Given the description of an element on the screen output the (x, y) to click on. 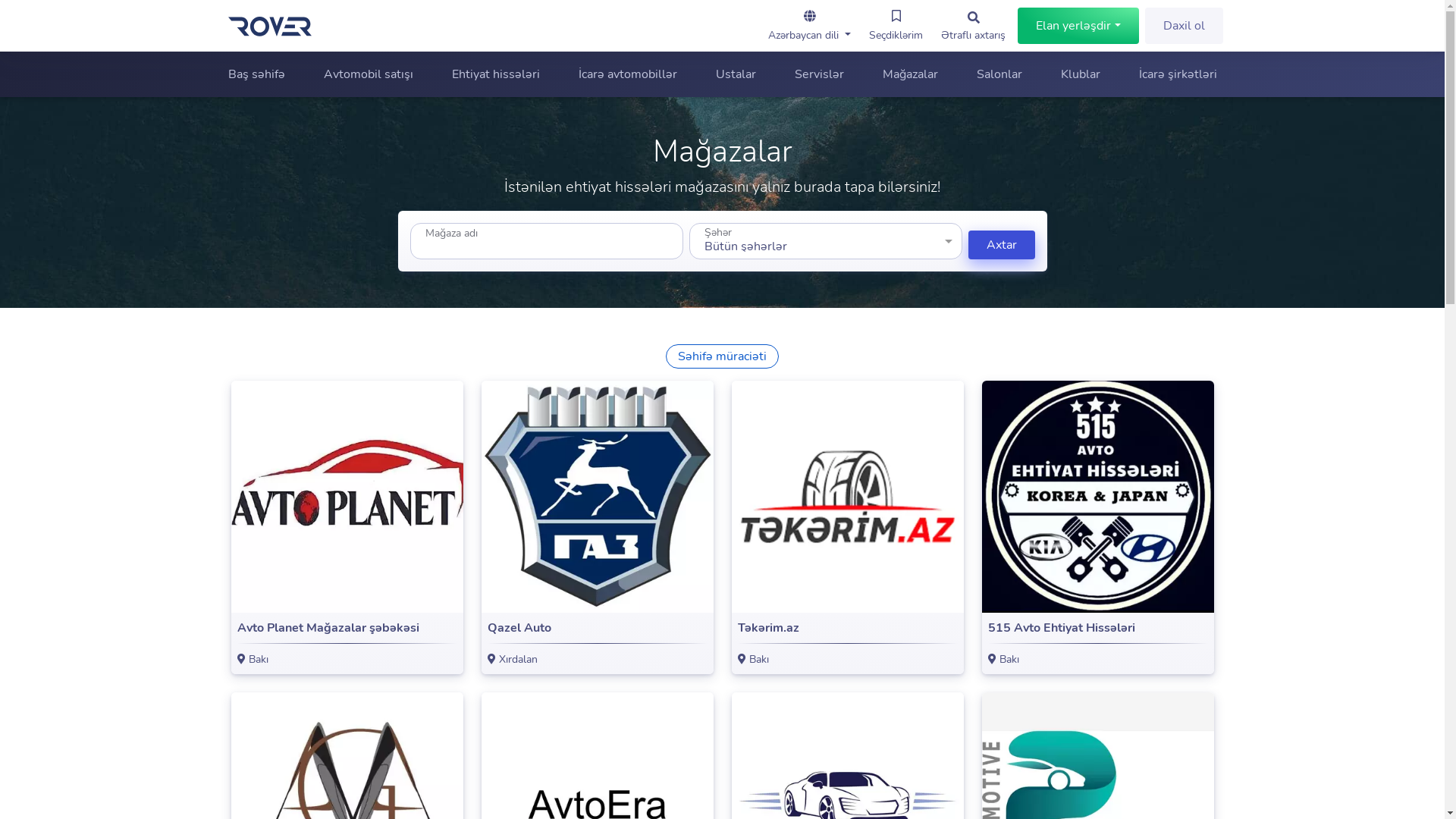
Daxil ol Element type: text (1184, 25)
Axtar Element type: text (1000, 244)
Ustalar Element type: text (735, 74)
Klublar Element type: text (1079, 74)
Salonlar Element type: text (999, 74)
